Given the description of an element on the screen output the (x, y) to click on. 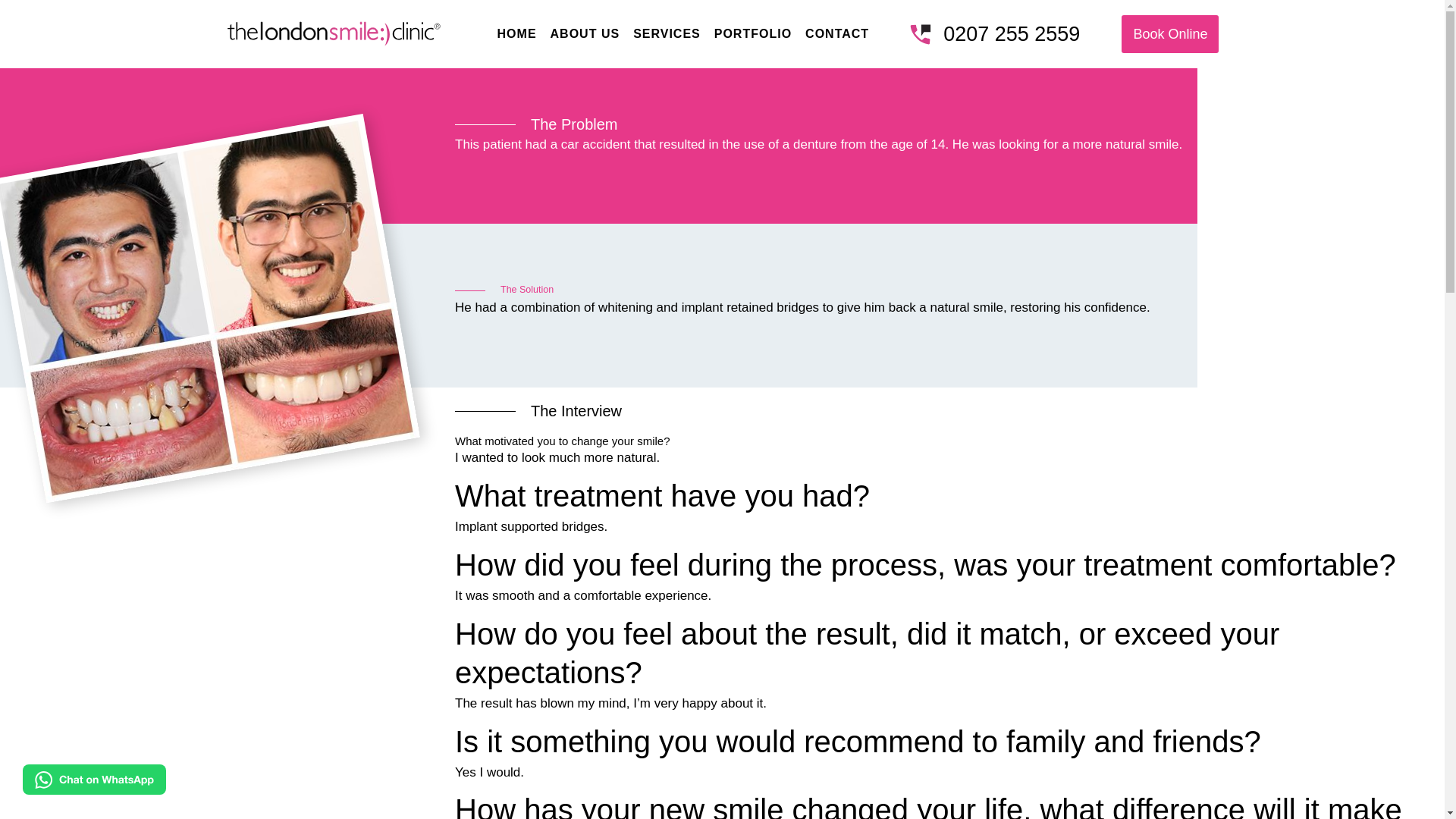
CONTACT (836, 33)
SERVICES (666, 33)
ABOUT US (585, 33)
HOME (516, 33)
Book Online (1169, 34)
0207 255 2559 (995, 34)
PORTFOLIO (752, 33)
Contact us via WhatsApp (83, 780)
